Given the description of an element on the screen output the (x, y) to click on. 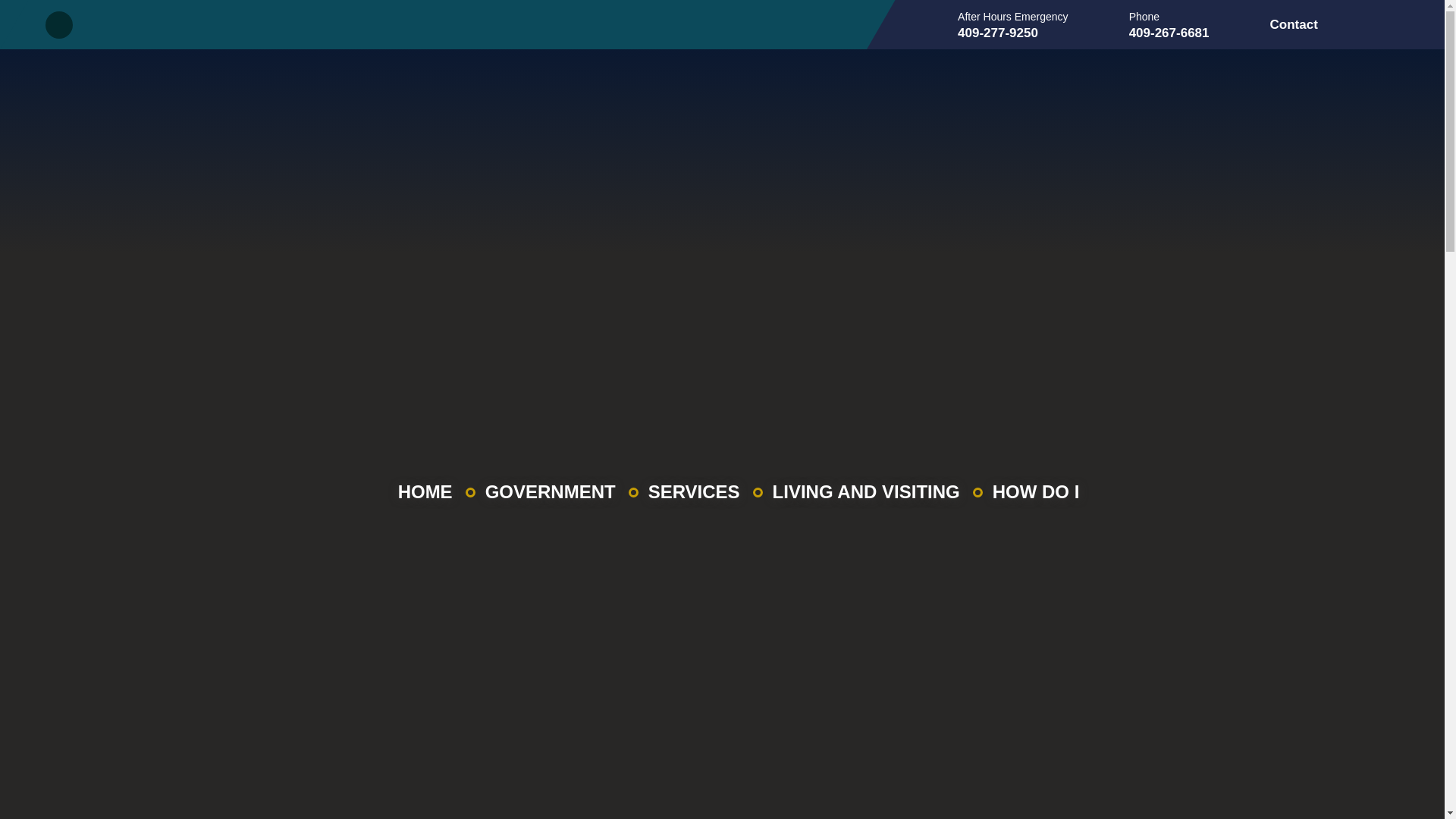
Contact (1293, 24)
LIVING AND VISITING (866, 492)
409-267-6681 (1169, 32)
GOVERNMENT (549, 492)
HOME (424, 492)
Home (424, 492)
409-277-9250 (1013, 32)
HOW DO I (1036, 492)
Services (693, 492)
SERVICES (693, 492)
